Given the description of an element on the screen output the (x, y) to click on. 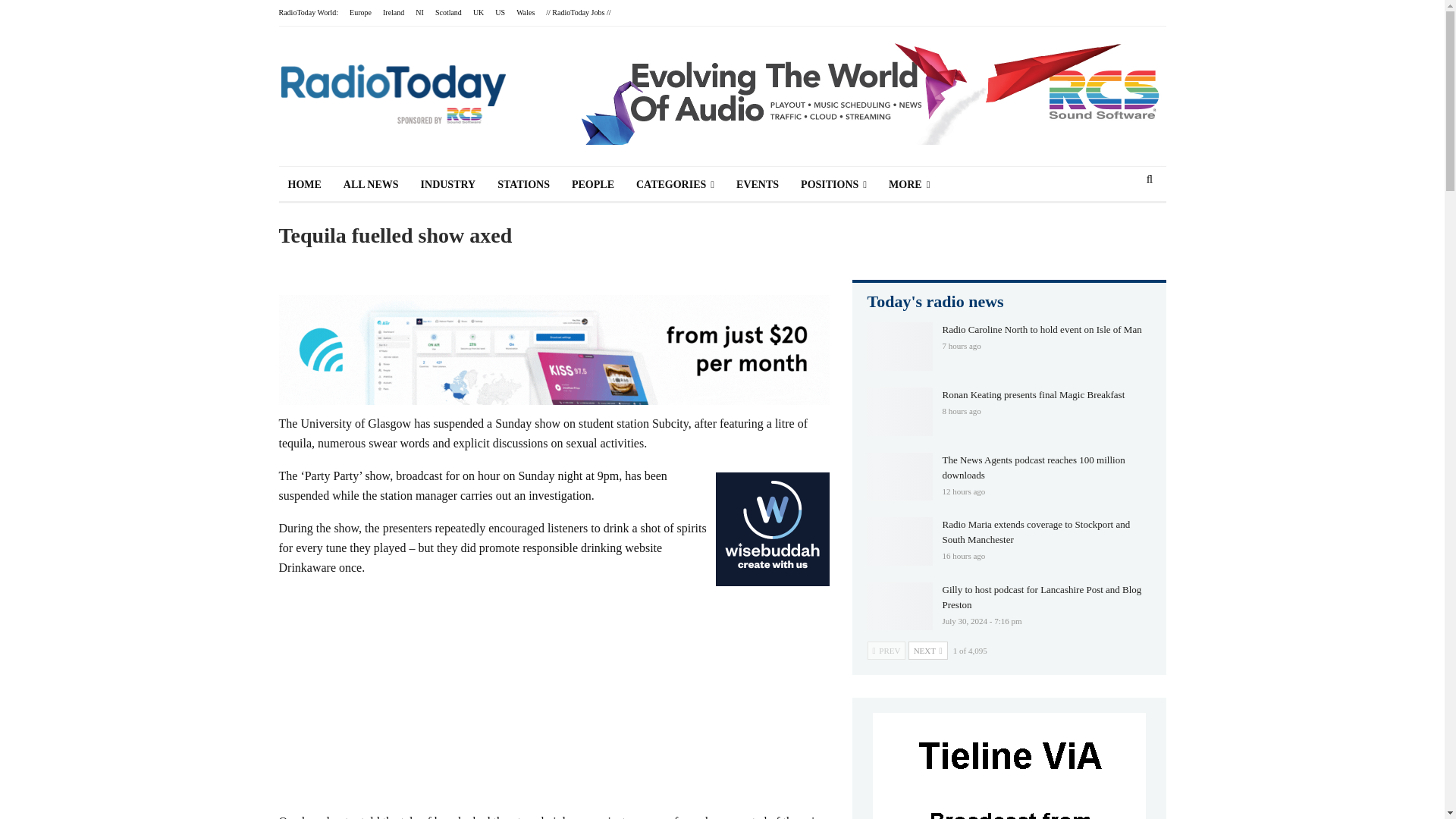
ALL NEWS (370, 185)
Scotland (448, 12)
HOME (304, 185)
CATEGORIES (675, 185)
Europe (360, 12)
NI (418, 12)
STATIONS (523, 185)
UK (478, 12)
RadioToday World: (309, 12)
INDUSTRY (448, 185)
PEOPLE (592, 185)
US (500, 12)
Wales (525, 12)
Ireland (393, 12)
